Given the description of an element on the screen output the (x, y) to click on. 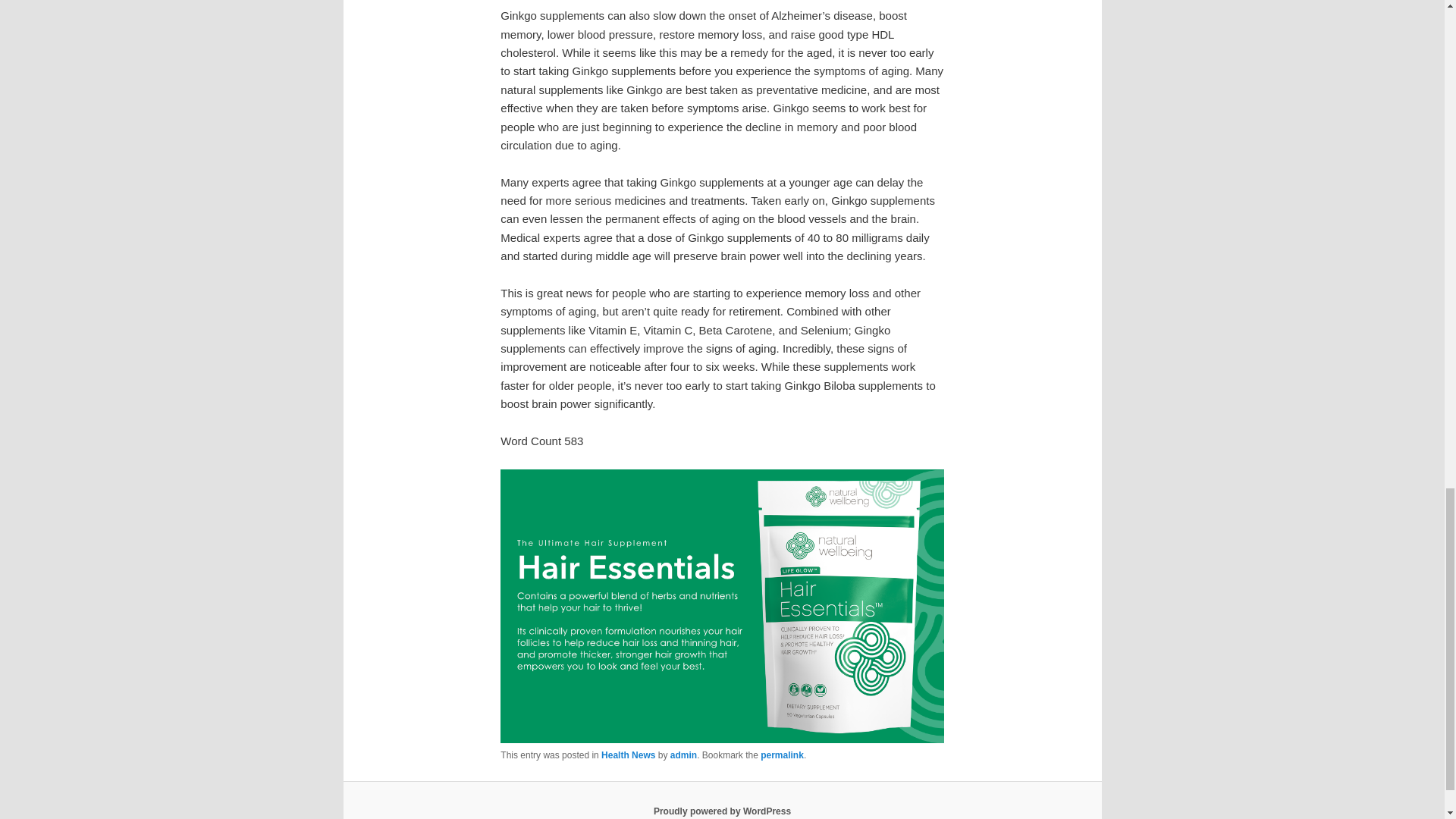
Health News (628, 755)
Permalink to Vitamins and Supplements for Brain Power (781, 755)
permalink (781, 755)
admin (683, 755)
Semantic Personal Publishing Platform (721, 810)
Proudly powered by WordPress (721, 810)
